Given the description of an element on the screen output the (x, y) to click on. 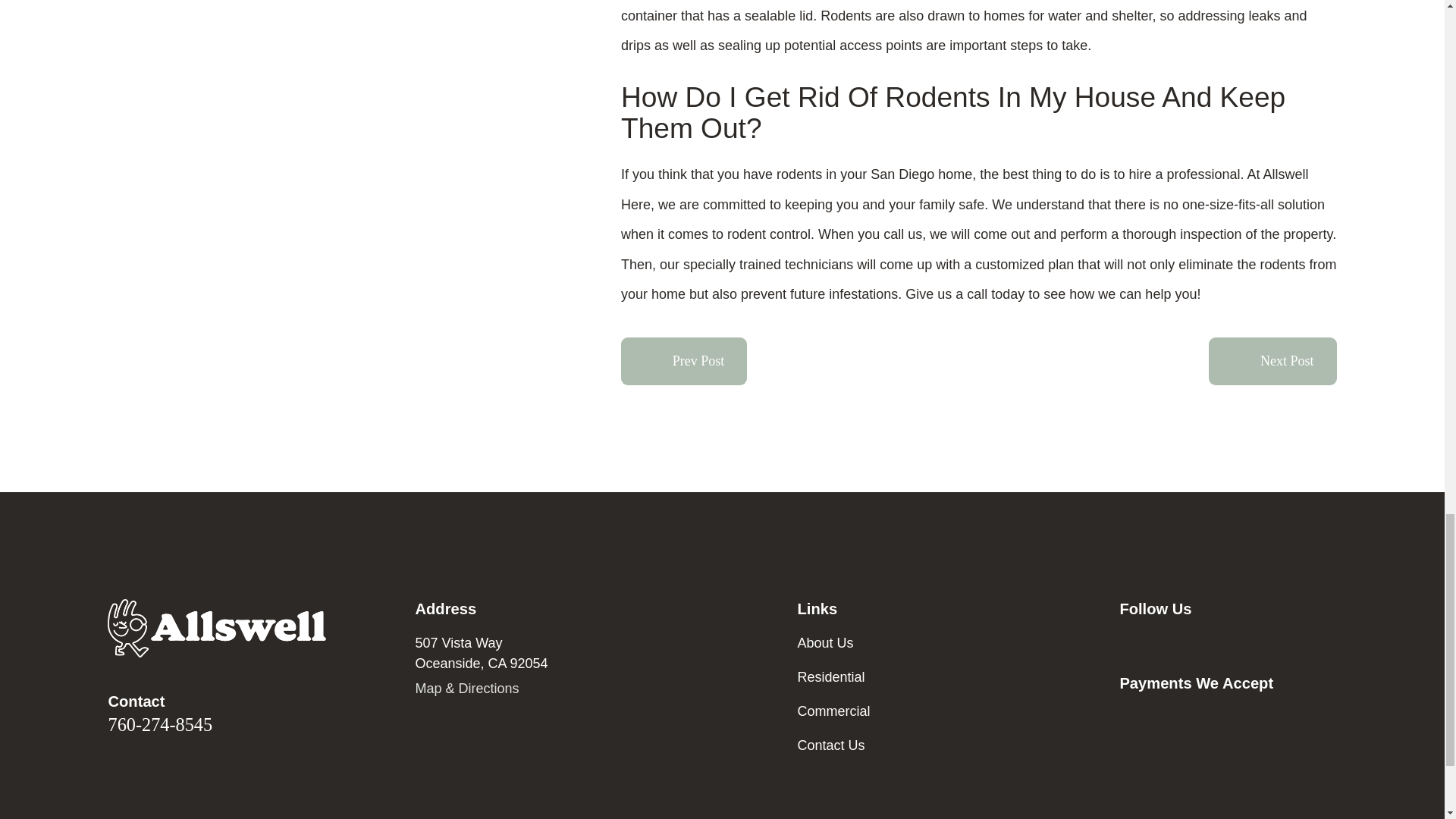
Facebook (1167, 642)
Visa (1128, 716)
Instagram (1207, 642)
Google Business Profile (1128, 642)
Home (216, 627)
Yelp (1248, 642)
